Given the description of an element on the screen output the (x, y) to click on. 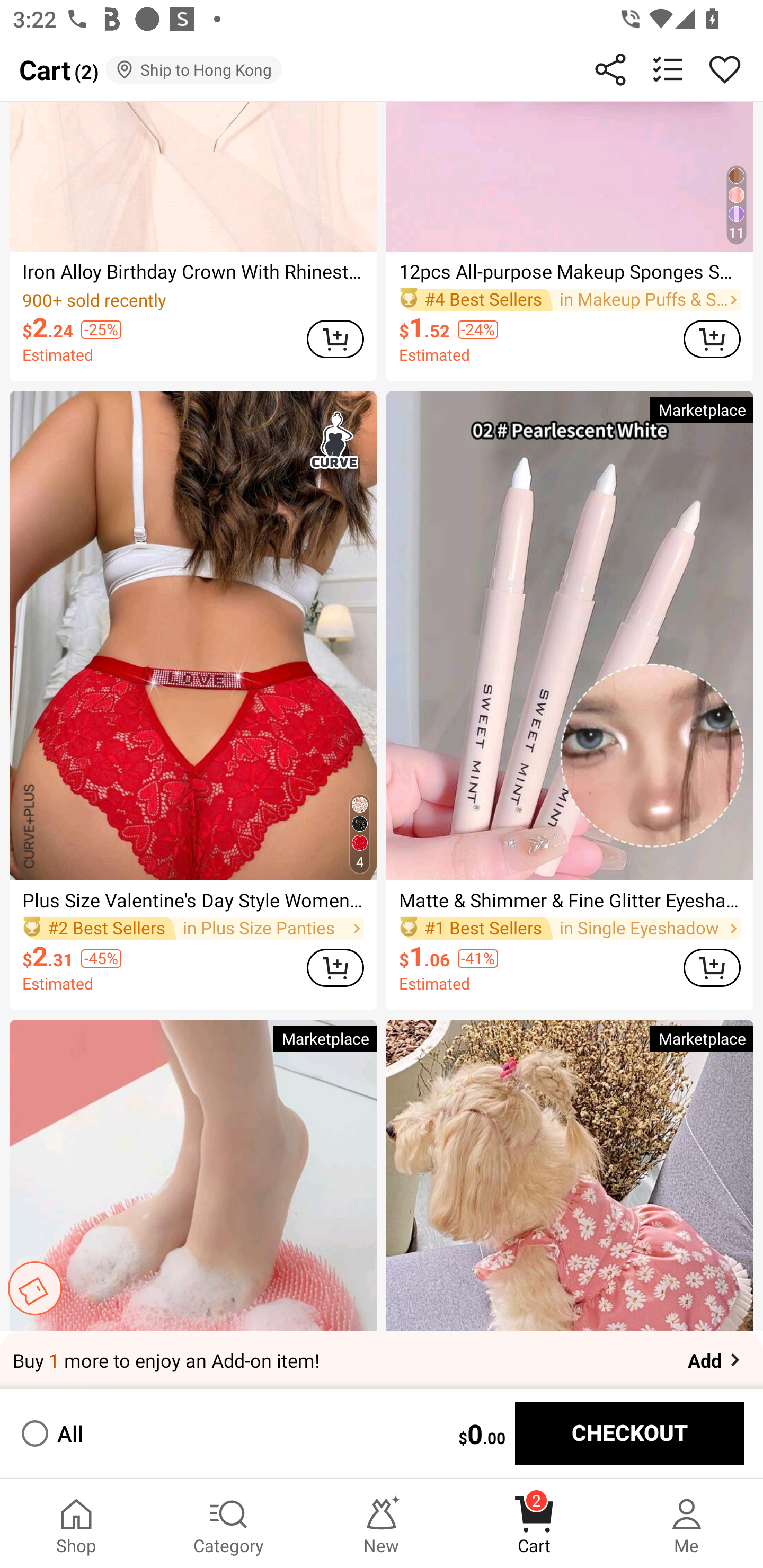
Wishlist (724, 68)
Share (610, 68)
batch delete (667, 68)
Ship to Hong Kong (193, 68)
#4 Best Sellers in Makeup Puffs & Sponges (569, 299)
ADD TO CART (334, 338)
ADD TO CART (711, 338)
#2 Best Sellers in Plus Size Panties (192, 927)
#1 Best Sellers in Single Eyeshadow (569, 927)
ADD TO CART (334, 967)
ADD TO CART (711, 967)
Daisy Print Pet Dress Marketplace (569, 1175)
Coupon Alert Add $0.00 more to get 20% OFF (34, 1287)
Buy 1 more to enjoy an Add-on item! Add (381, 1360)
Add (715, 1359)
CHECKOUT (629, 1432)
All (51, 1432)
Shop (76, 1523)
Category (228, 1523)
New (381, 1523)
Me (686, 1523)
